Given the description of an element on the screen output the (x, y) to click on. 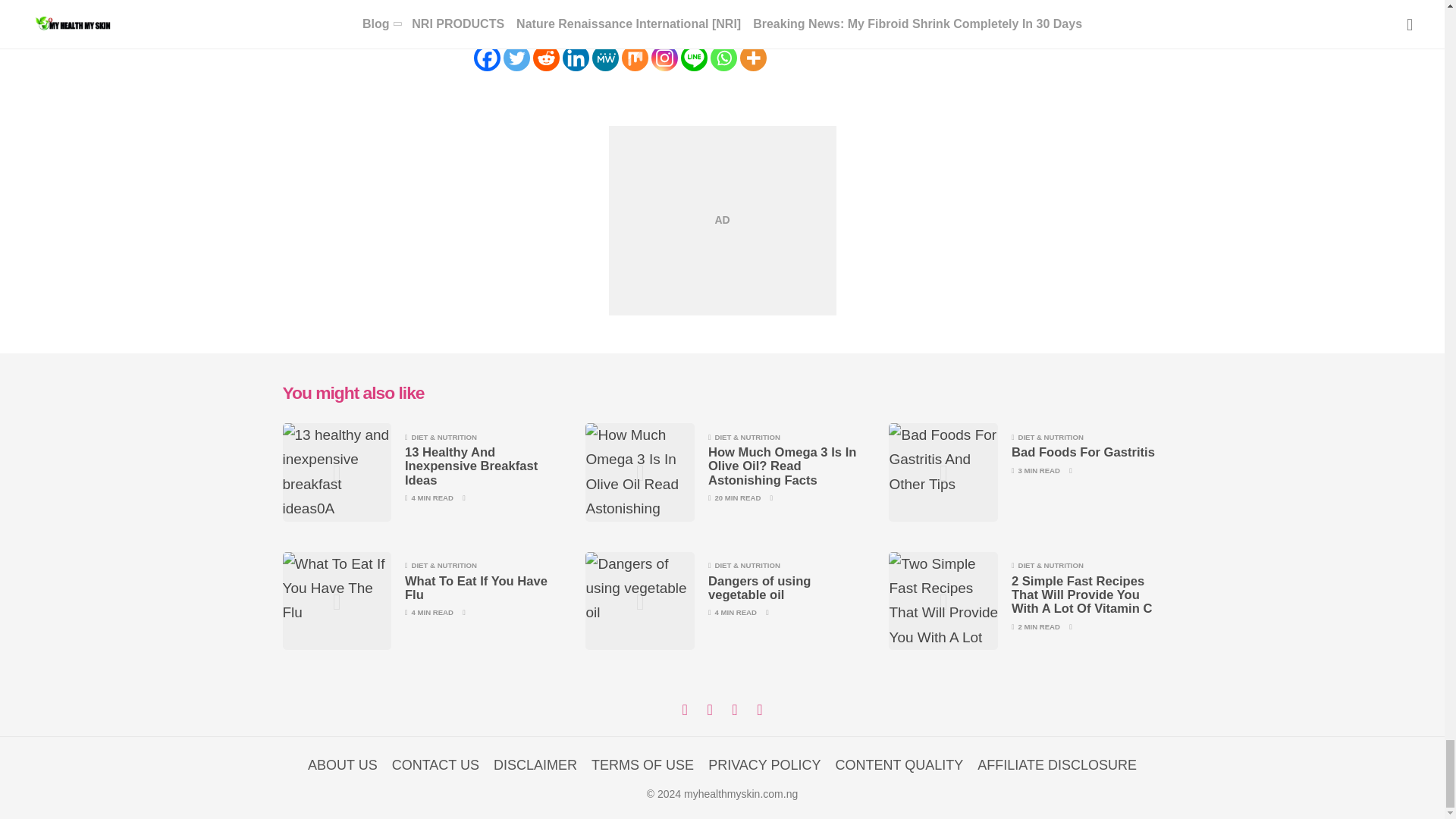
Mix (634, 58)
Linkedin (575, 58)
Whatsapp (723, 58)
Twitter (516, 58)
Reddit (545, 58)
Line (694, 58)
MeWe (604, 58)
More (753, 58)
Instagram (663, 58)
Facebook (486, 58)
